Given the description of an element on the screen output the (x, y) to click on. 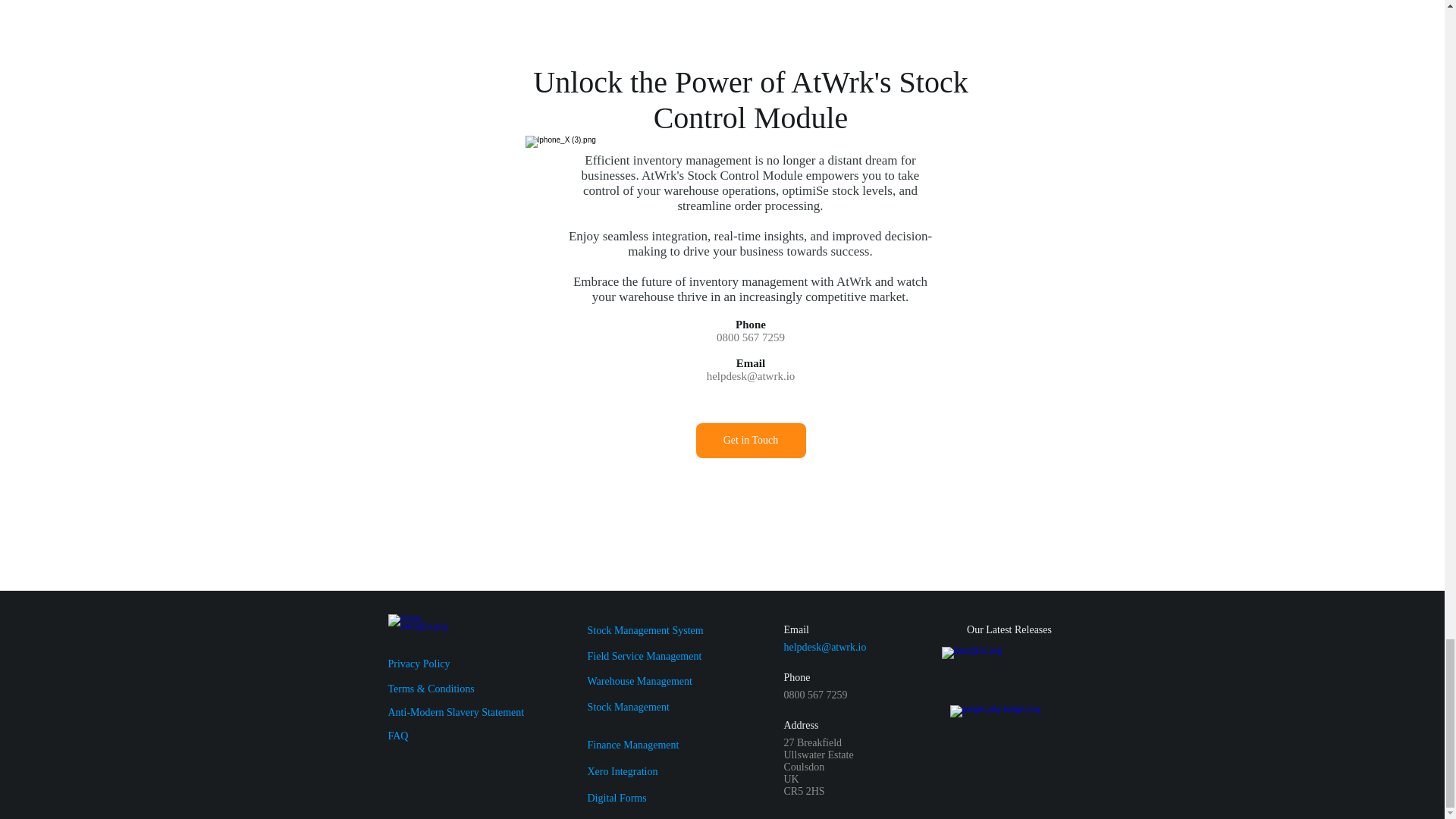
Xero Integration (622, 771)
Privacy Policy (418, 663)
FAQ (398, 736)
Get in Touch (750, 440)
Stock Management System (644, 630)
Digital Forms (616, 797)
Anti-Modern Slavery Statement (456, 712)
Field Service Management (643, 655)
Finance Management (632, 745)
Warehouse Management (638, 681)
Stock Management (627, 706)
0800 567 7259 (750, 337)
